Given the description of an element on the screen output the (x, y) to click on. 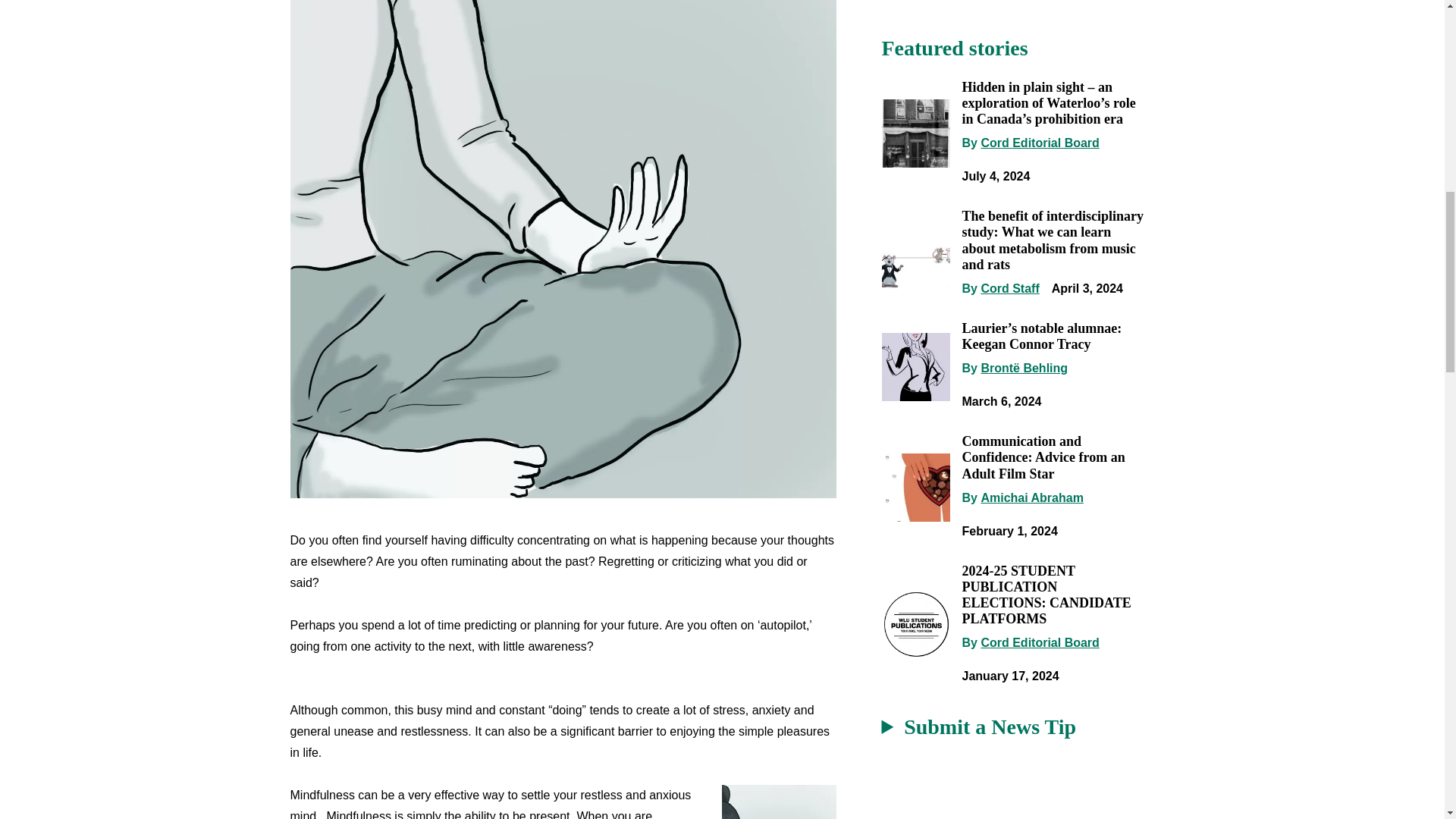
Posts by Amichai Abraham (1031, 497)
Opinion - Wellness with Studying - Steph (778, 801)
Posts by Cord Staff (1009, 287)
Posts by Cord Editorial Board (1039, 642)
Posts by Cord Editorial Board (1039, 142)
